Given the description of an element on the screen output the (x, y) to click on. 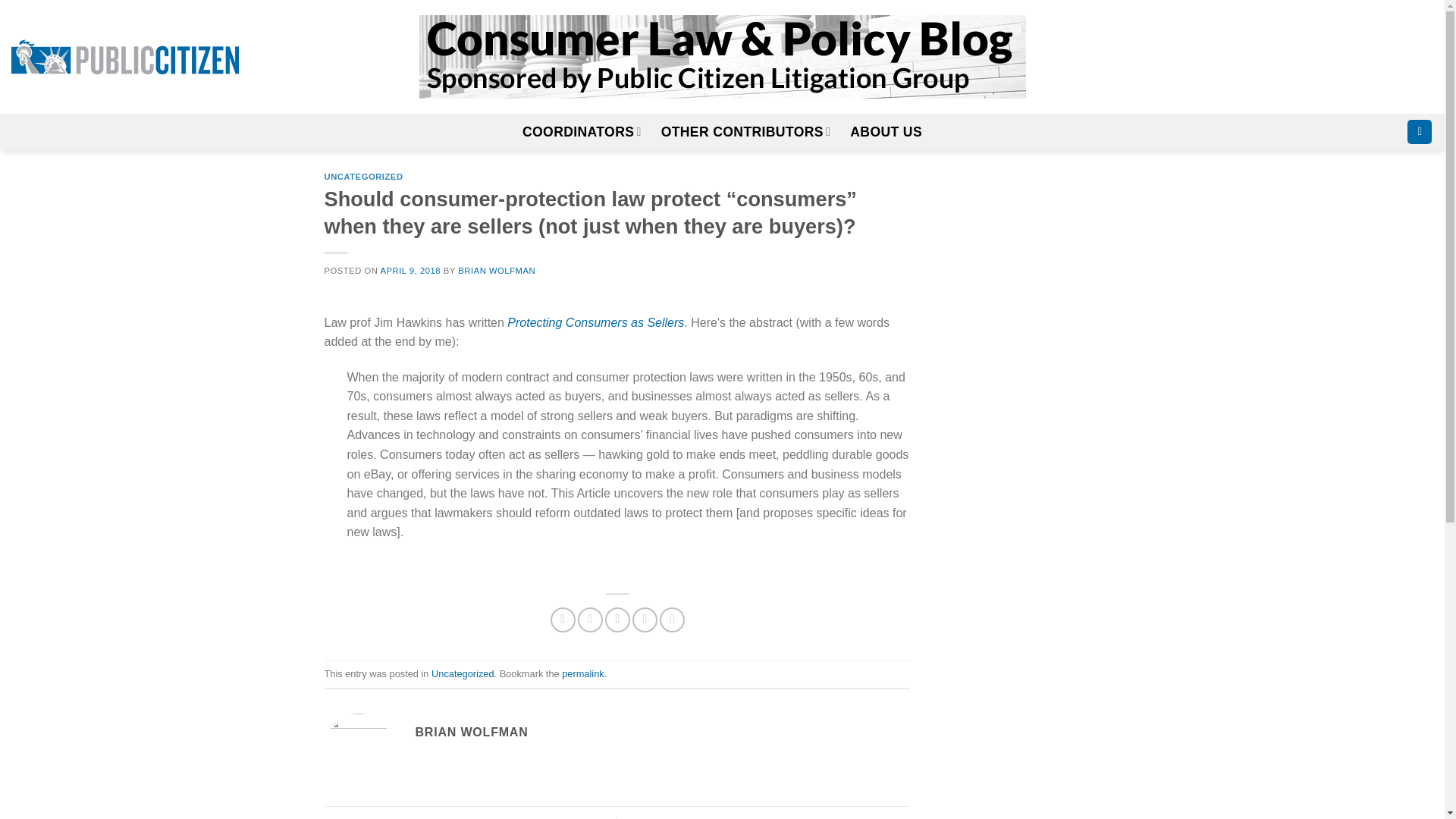
Share on LinkedIn (671, 619)
BRIAN WOLFMAN (496, 270)
Email to a Friend (617, 619)
APRIL 9, 2018 (410, 270)
Protecting Consumers as Sellers (595, 322)
UNCATEGORIZED (363, 175)
COORDINATORS (582, 131)
Share on Facebook (562, 619)
permalink (583, 673)
Share on Twitter (590, 619)
